Given the description of an element on the screen output the (x, y) to click on. 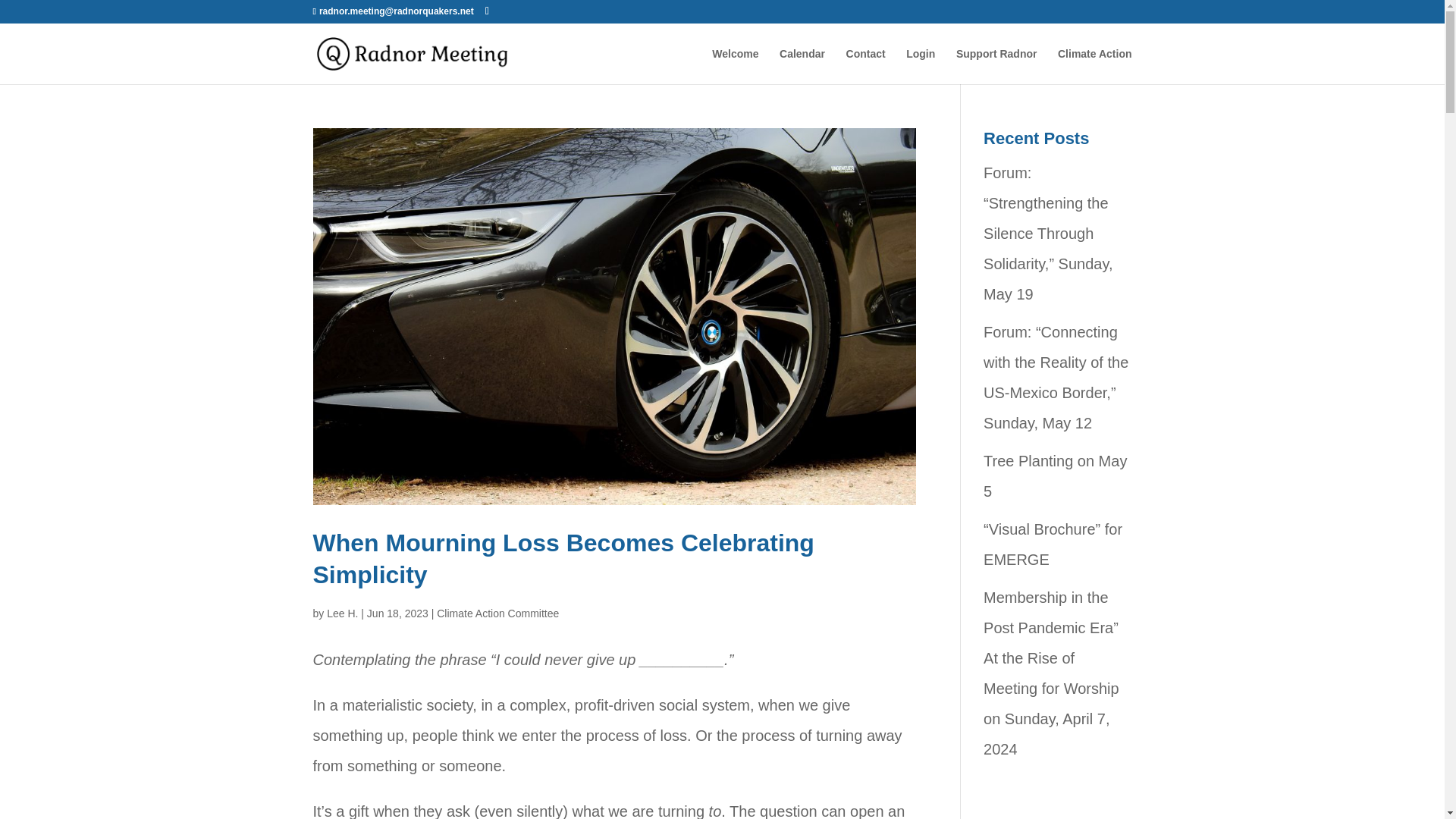
Welcome (734, 66)
Calendar (801, 66)
Contact (865, 66)
Lee H. (342, 613)
When Mourning Loss Becomes Celebrating Simplicity (563, 558)
Support Radnor (996, 66)
Climate Action Committee (497, 613)
Climate Action (1095, 66)
Posts by Lee H. (342, 613)
